Given the description of an element on the screen output the (x, y) to click on. 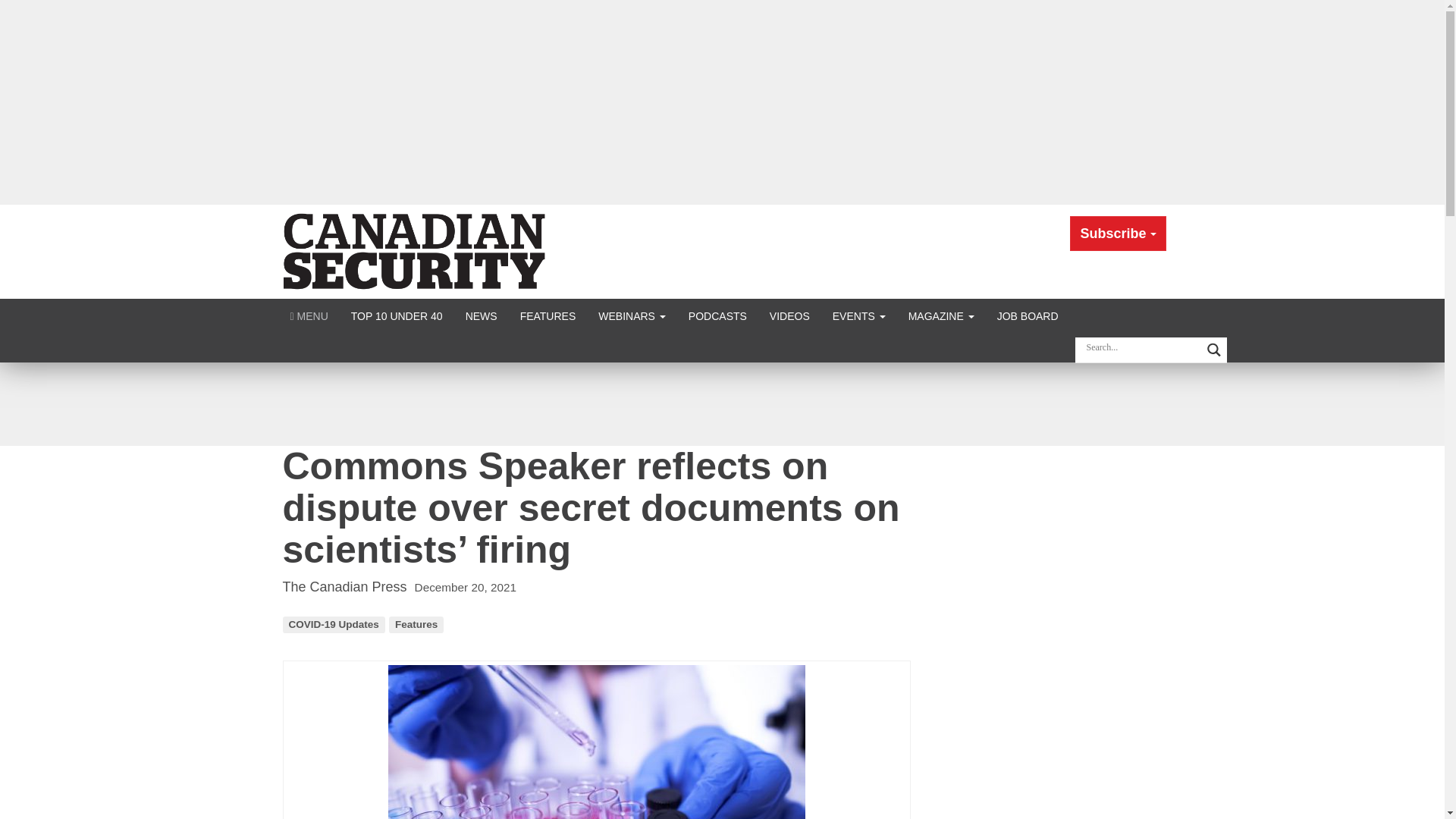
MAGAZINE (940, 315)
3rd party ad content (721, 404)
WEBINARS (631, 315)
NEWS (481, 315)
Click to show site navigation (309, 315)
TOP 10 UNDER 40 (396, 315)
JOB BOARD (1027, 315)
Canadian Security Magazine (415, 250)
Subscribe (1118, 233)
